Given the description of an element on the screen output the (x, y) to click on. 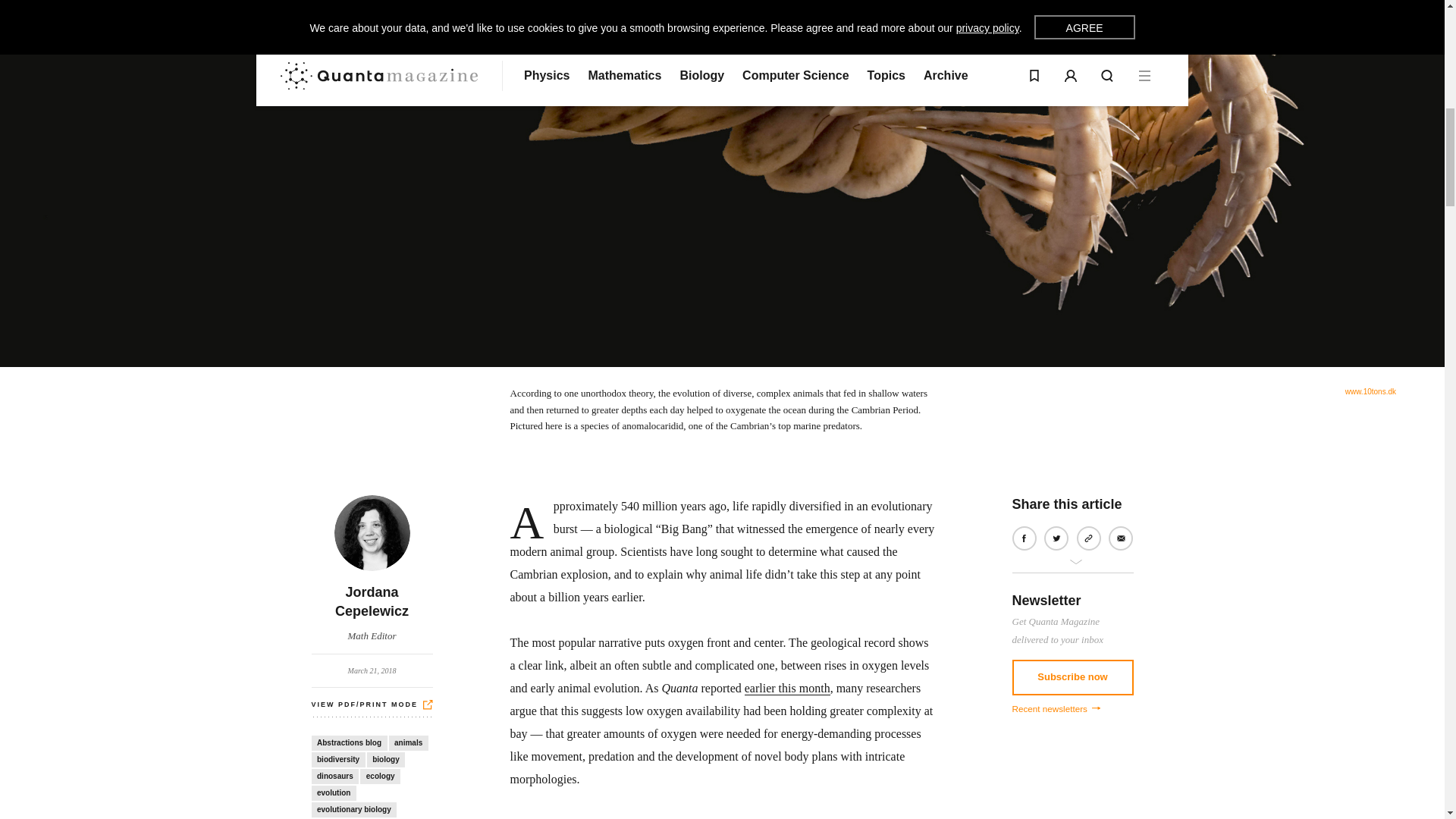
Abstractions blog (349, 743)
animals (408, 743)
www.10tons.dk (371, 569)
biology (1370, 391)
biodiversity (386, 759)
dinosaurs (338, 759)
ecology (334, 776)
